Given the description of an element on the screen output the (x, y) to click on. 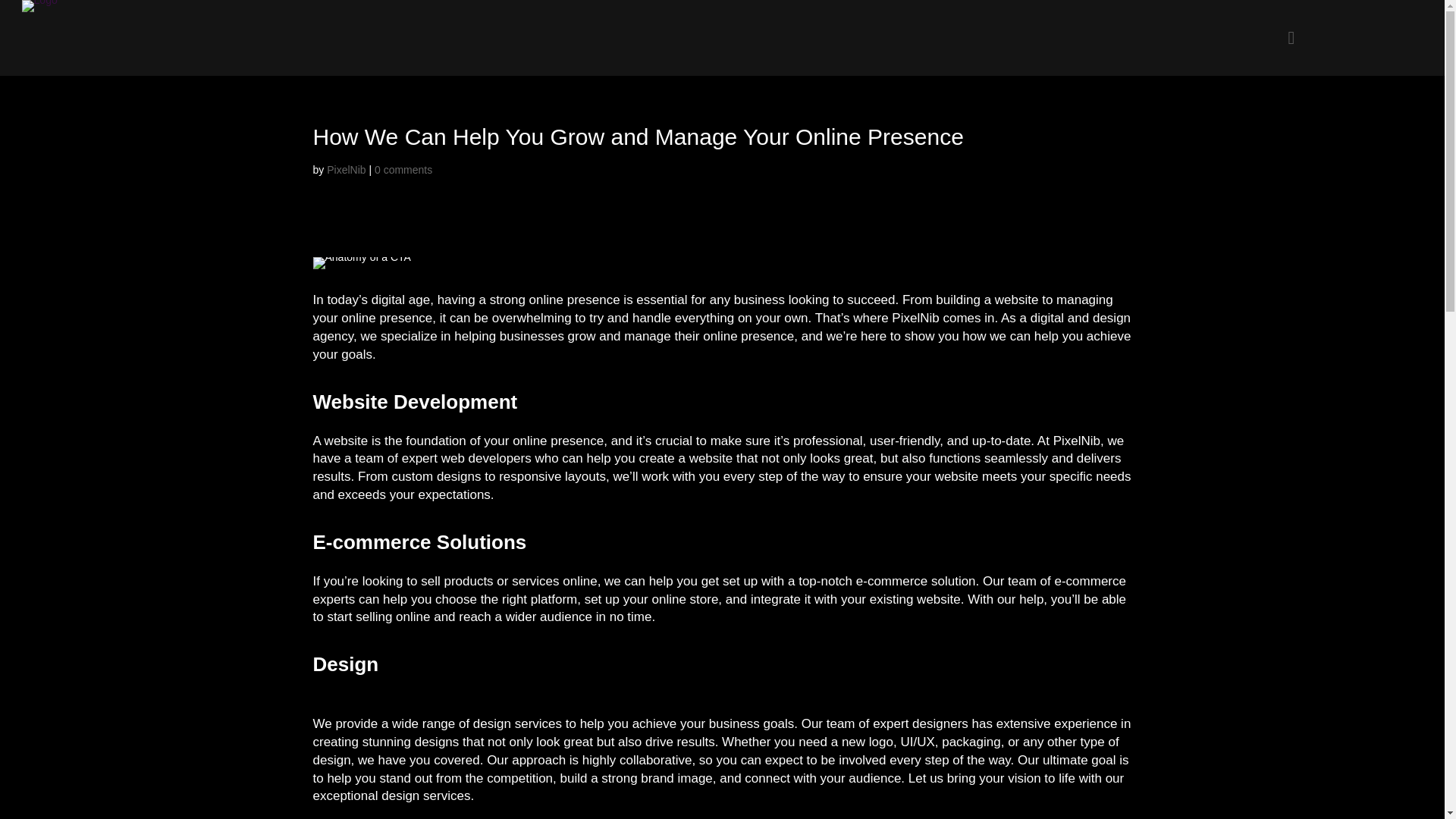
0 comments (403, 169)
PixelNib-for-Twitter-removebg-preview (39, 6)
Posts by PixelNib (345, 169)
PixelNib (345, 169)
austin-distel-gUIJ0YszPig-unsplash-min (361, 263)
